Given the description of an element on the screen output the (x, y) to click on. 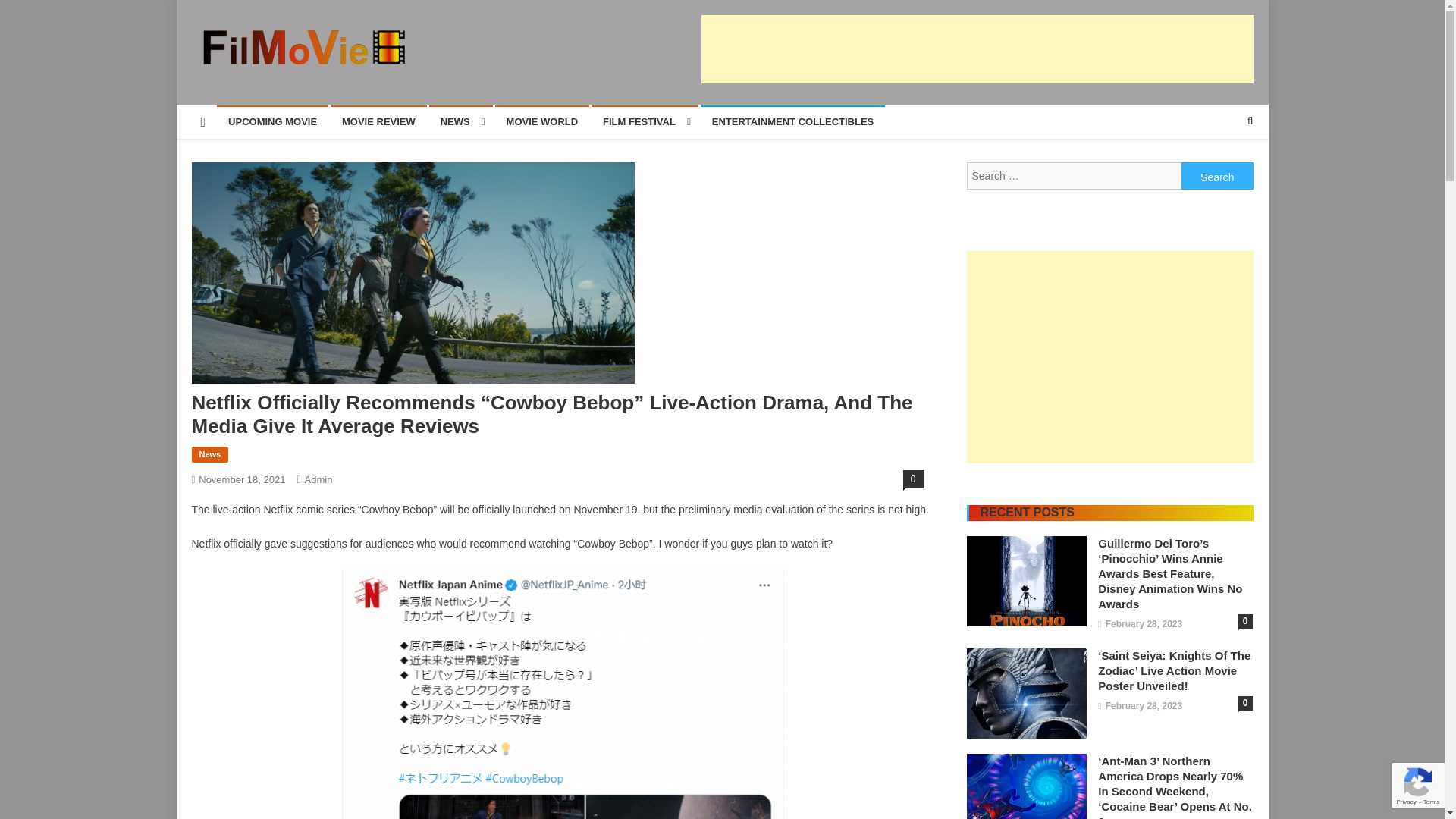
ENTERTAINMENT COLLECTIBLES (792, 121)
UPCOMING MOVIE (272, 121)
MOVIE REVIEW (378, 121)
Advertisement (976, 49)
MOVIE WORLD (542, 121)
FMV6 (223, 79)
NEWS (461, 121)
0 (912, 479)
Search (1221, 171)
Search (1216, 175)
